Given the description of an element on the screen output the (x, y) to click on. 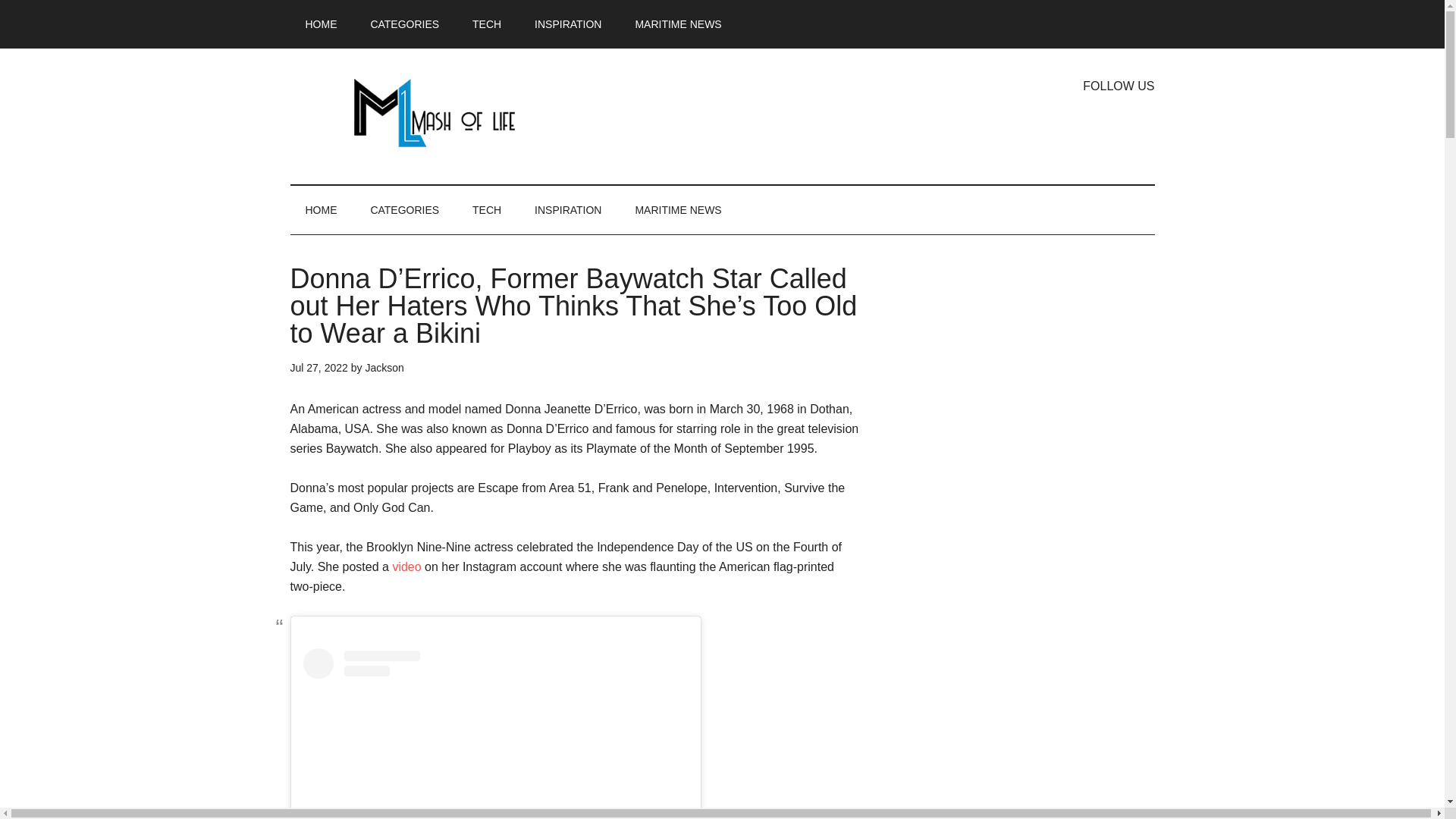
MARITIME NEWS (678, 24)
CATEGORIES (404, 209)
GET AN ULTIMATE LIVING EXPERIANCE (433, 112)
CATEGORIES (404, 24)
HOME (320, 209)
Pinterest (1141, 123)
TECH (486, 209)
HOME (320, 24)
TECH (486, 24)
INSPIRATION (567, 24)
